Given the description of an element on the screen output the (x, y) to click on. 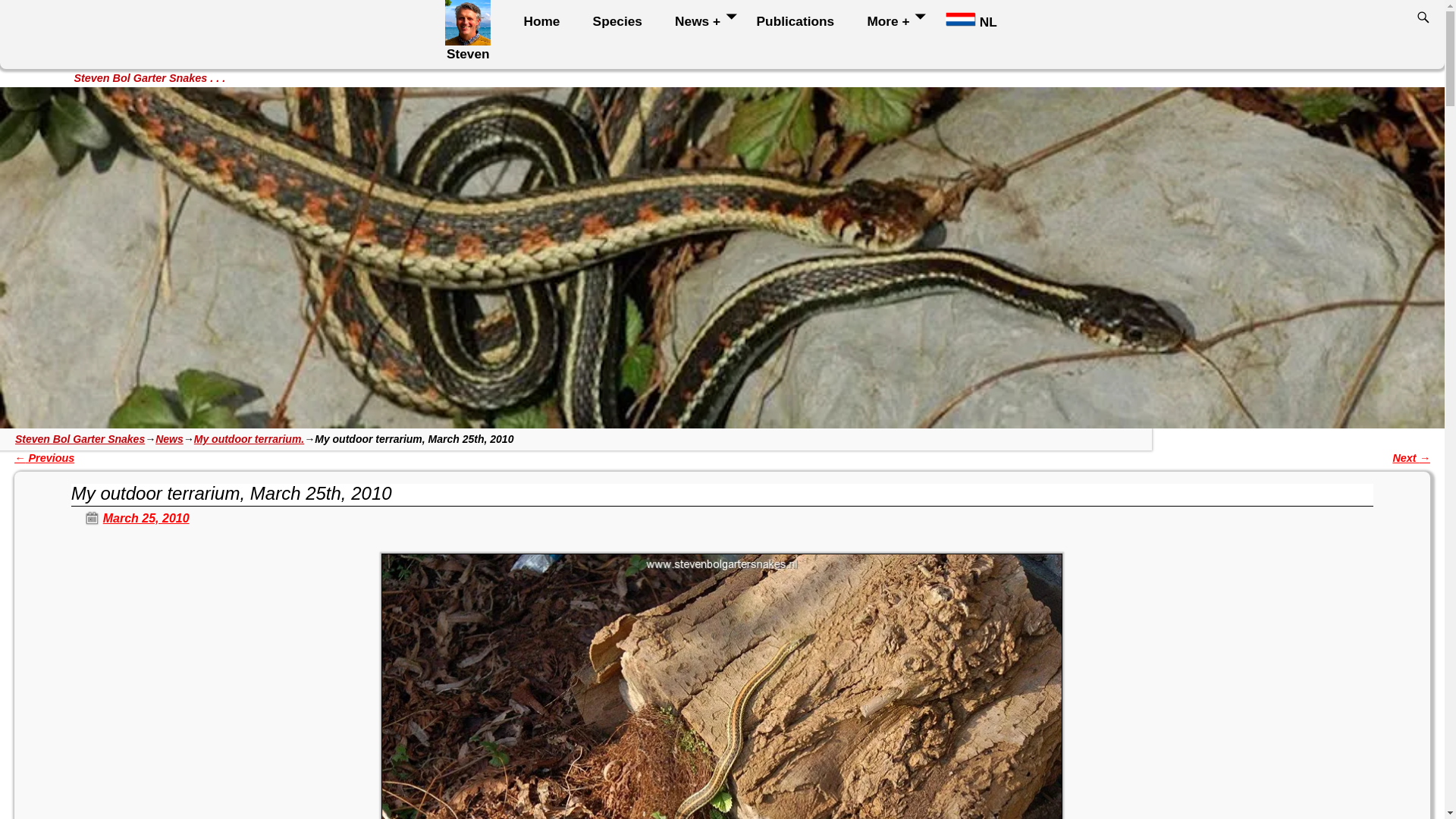
Publications by Me and Others (801, 20)
News (169, 439)
Species (624, 20)
Steven (474, 36)
Home (547, 20)
Species Garter Snakes (624, 20)
Steven Bol Garter Snakes (79, 439)
My outdoor terrarium. (248, 439)
Publications (801, 20)
Garter Snakes by Steven Bol (547, 20)
NL (978, 20)
March 25, 2010 (130, 517)
